Given the description of an element on the screen output the (x, y) to click on. 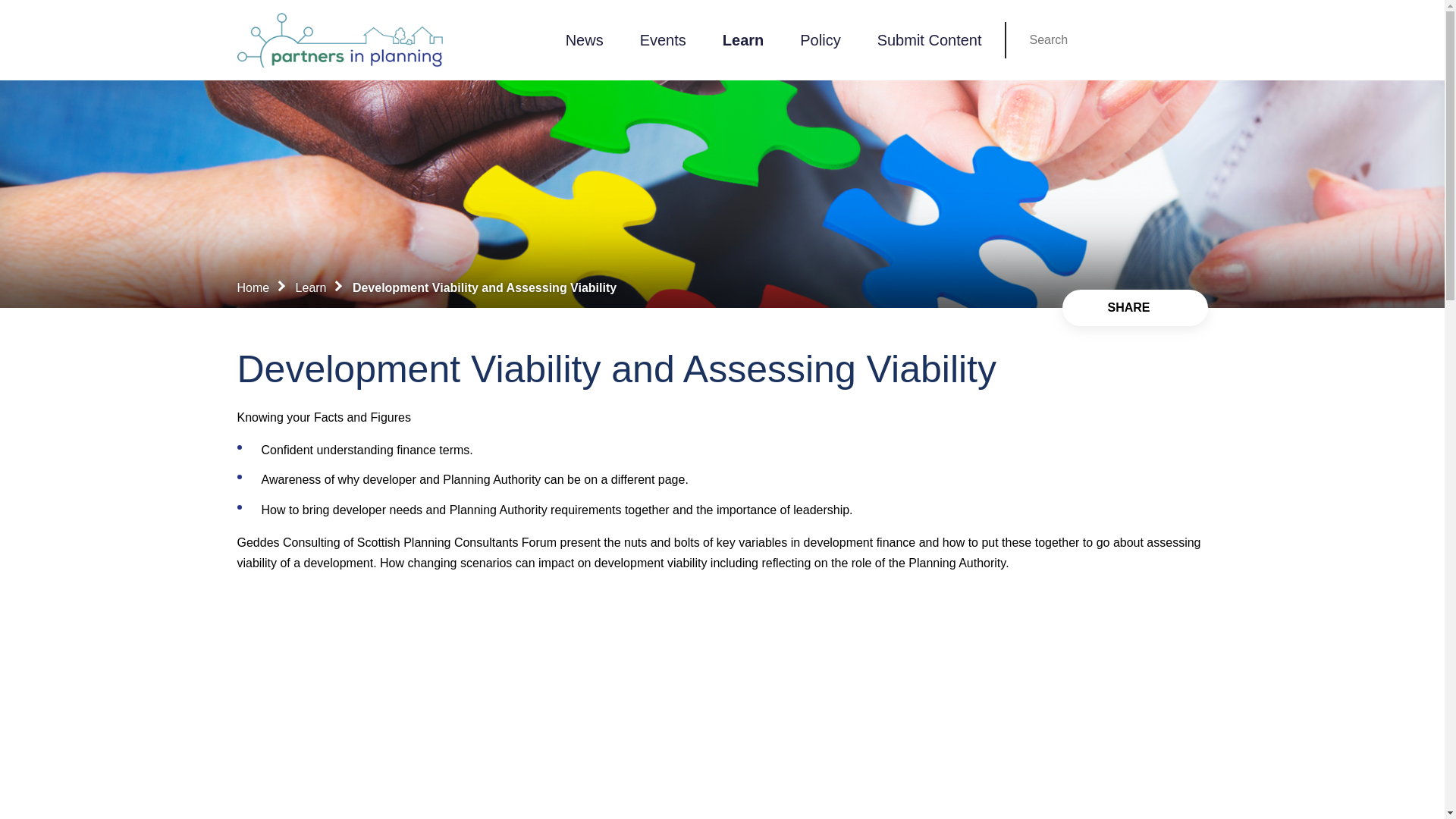
Learn (742, 39)
Policy (820, 39)
Submit Content (929, 39)
Events (662, 39)
News (584, 39)
